Given the description of an element on the screen output the (x, y) to click on. 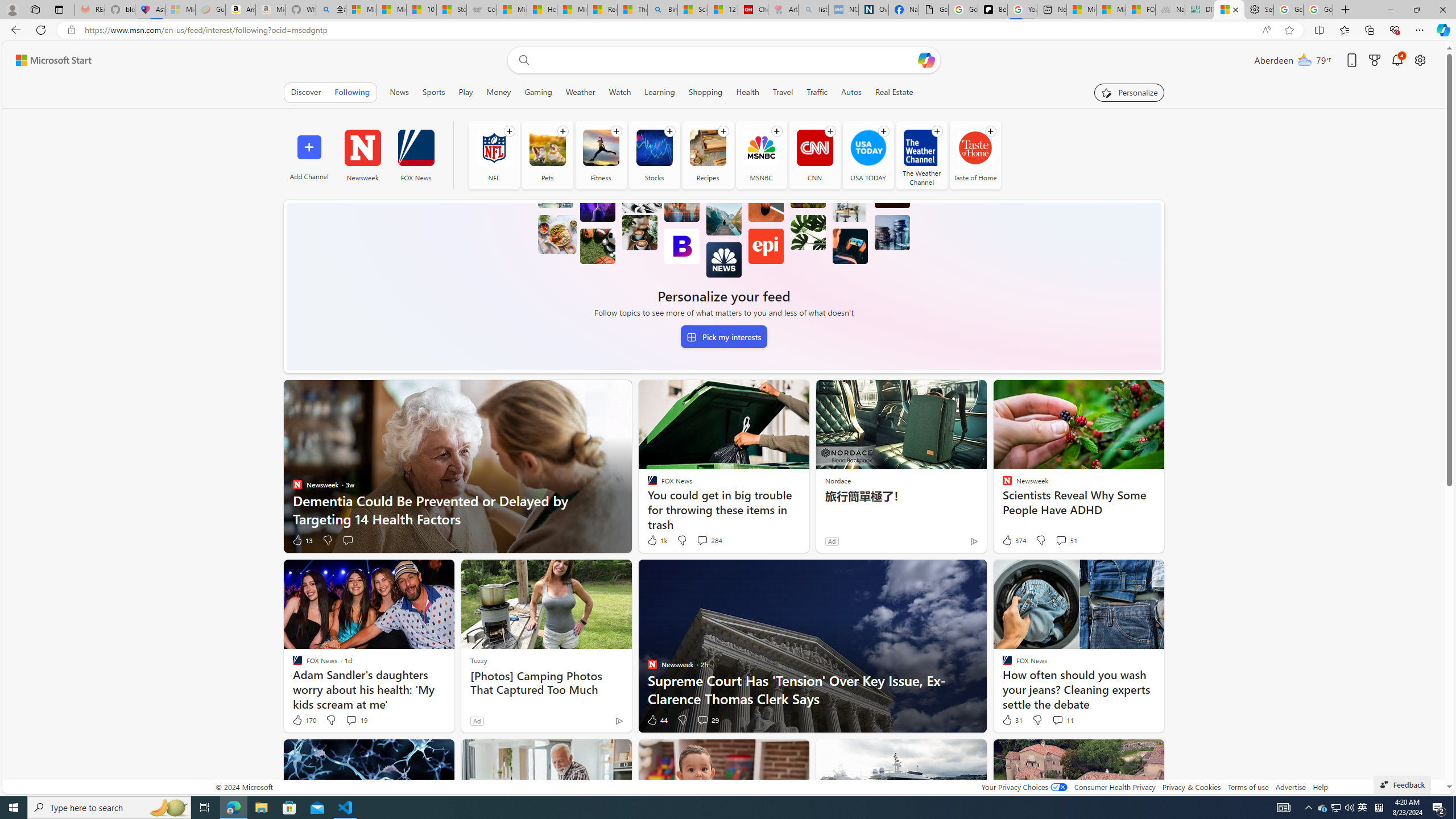
View comments 284 Comment (708, 539)
Terms of use (1247, 786)
How I Got Rid of Microsoft Edge's Unnecessary Features (542, 9)
[Photos] Camping Photos That Captured Too Much (546, 682)
FOX News (415, 147)
Autos (850, 92)
FOX News (416, 155)
Sports (433, 92)
